Given the description of an element on the screen output the (x, y) to click on. 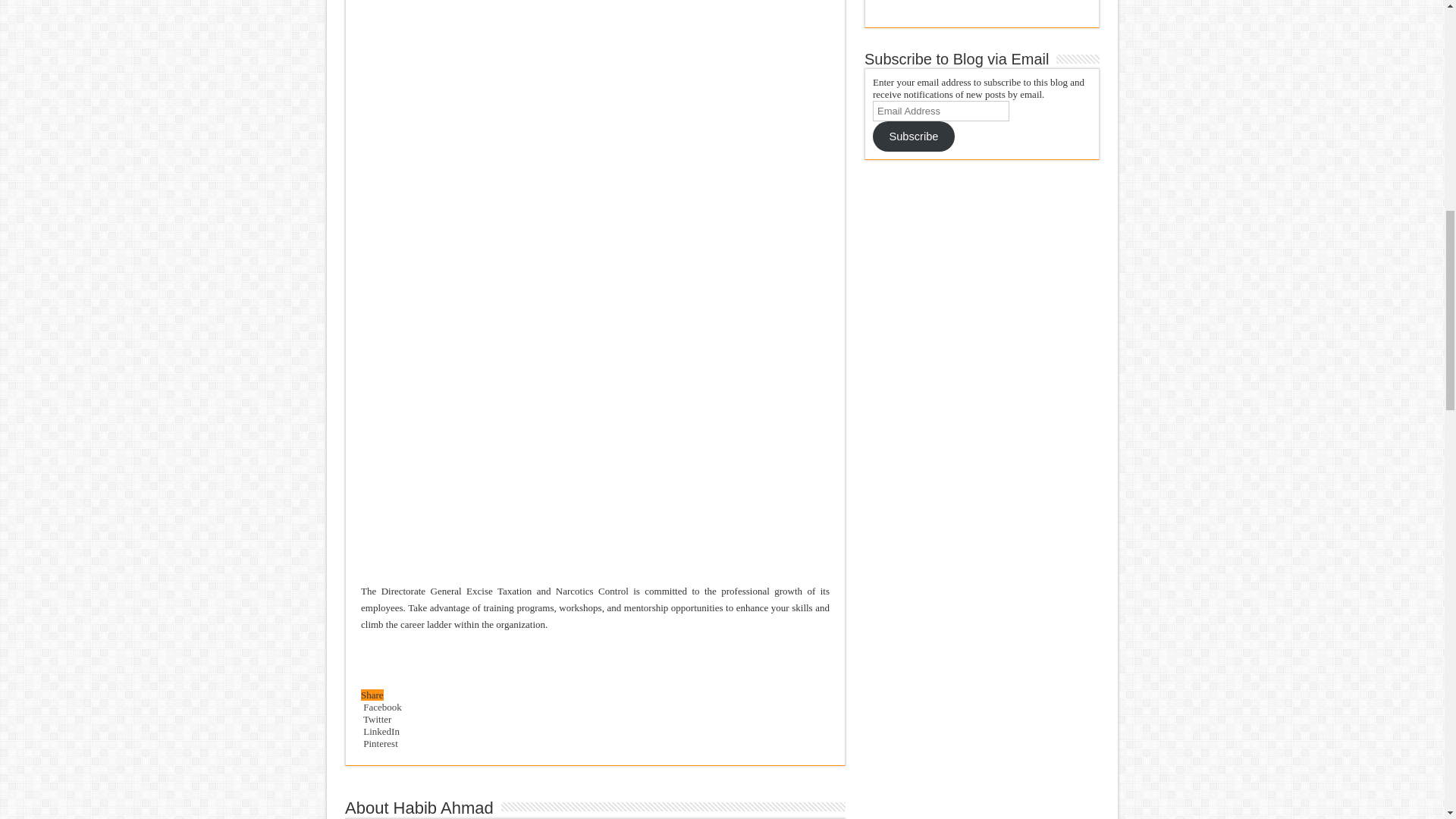
Twitter (376, 718)
Facebook (381, 706)
LinkedIn (379, 731)
Pinterest (379, 743)
